Given the description of an element on the screen output the (x, y) to click on. 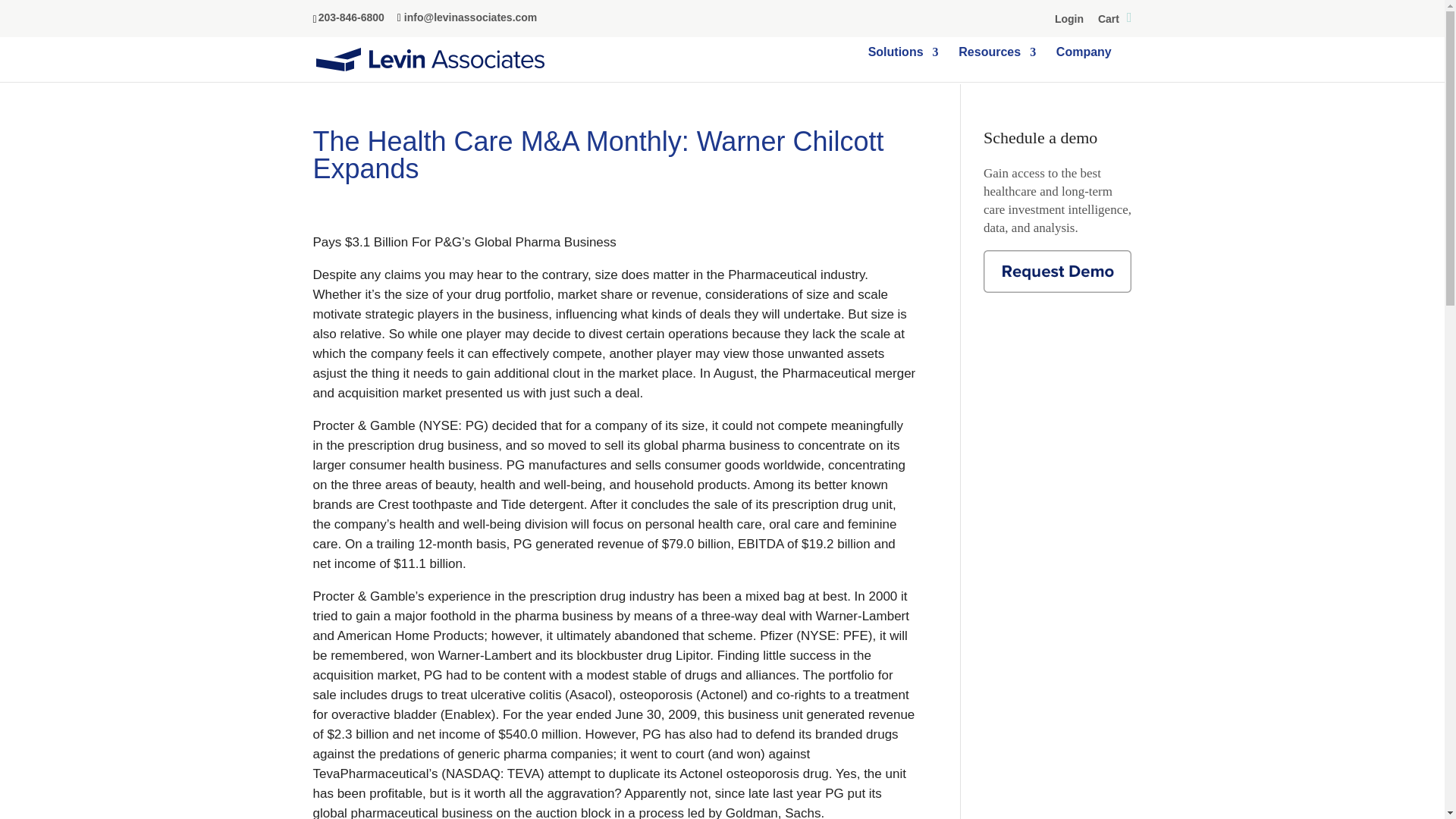
Resources (996, 63)
Company (1084, 63)
Cart (1114, 21)
Login (1068, 21)
Solutions (903, 63)
